Given the description of an element on the screen output the (x, y) to click on. 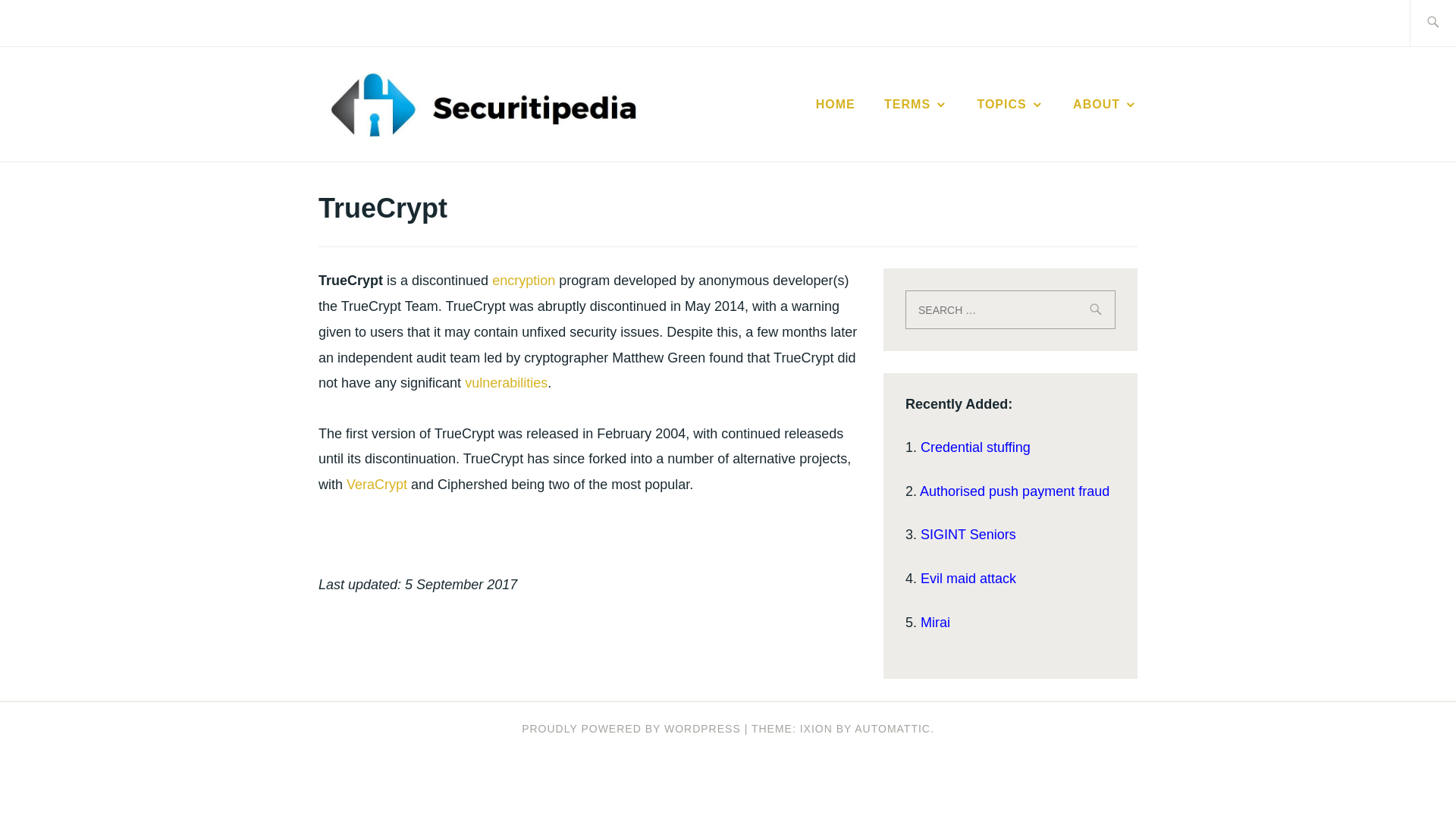
vulnerabilities (505, 382)
ABOUT (1105, 104)
TOPICS (1009, 104)
TERMS (915, 104)
HOME (835, 104)
SECURITIPEDIA (802, 127)
Search for: (1010, 309)
Search (47, 22)
encryption (523, 280)
